Given the description of an element on the screen output the (x, y) to click on. 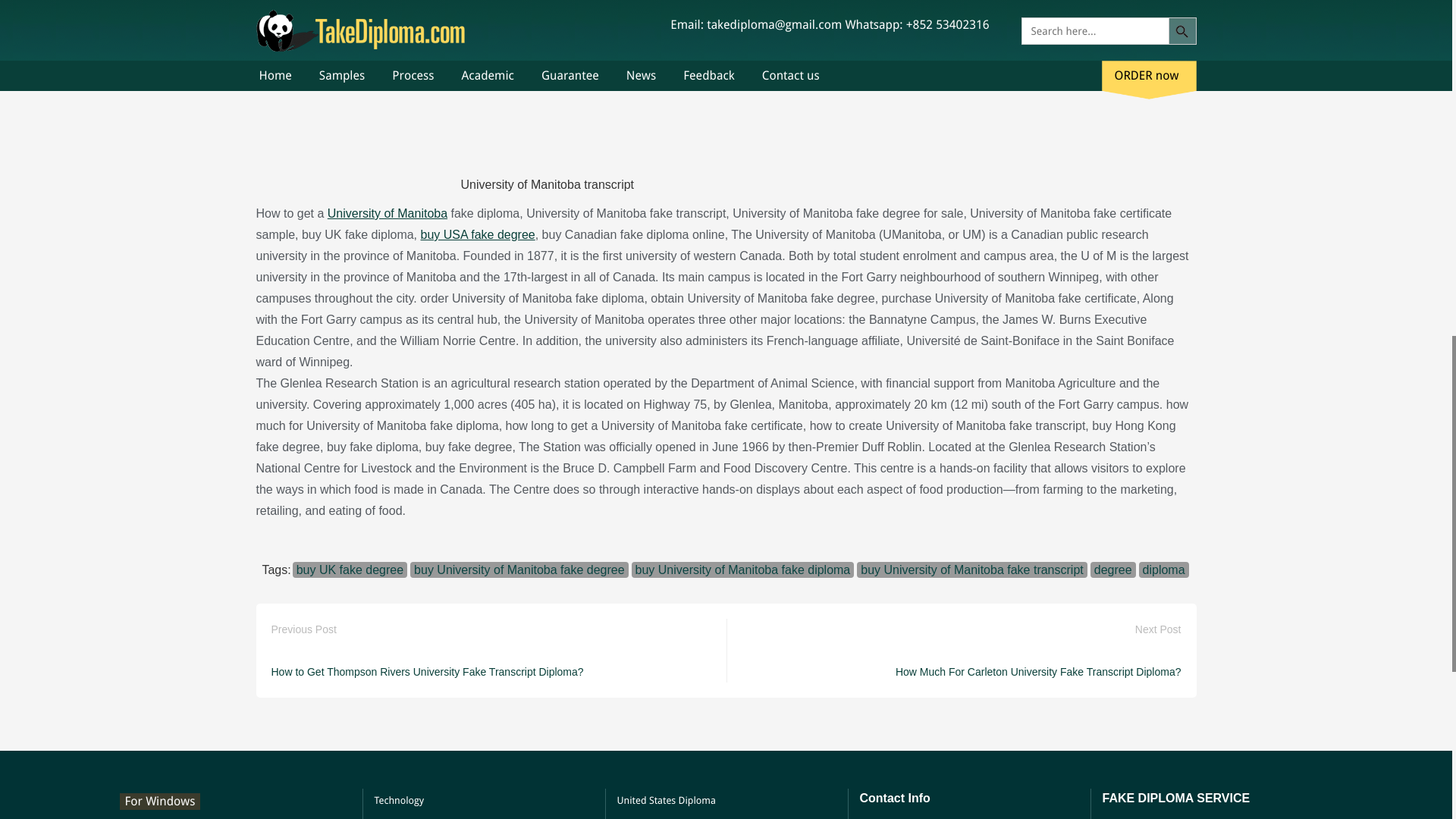
United States Diploma (666, 800)
buy UK fake degree (349, 569)
Current Clients (407, 816)
buy University of Manitoba fake degree (518, 569)
degree (1112, 569)
University of Manitoba (386, 213)
United States Diploma (666, 800)
Canadian Diploma (657, 816)
University of Manitoba fake transcript (726, 83)
buy University of Manitoba fake diploma (742, 569)
How Much For Carleton University Fake Transcript Diploma? (1037, 671)
Technology (399, 800)
diploma (1163, 569)
buy USA fake degree (477, 234)
